Given the description of an element on the screen output the (x, y) to click on. 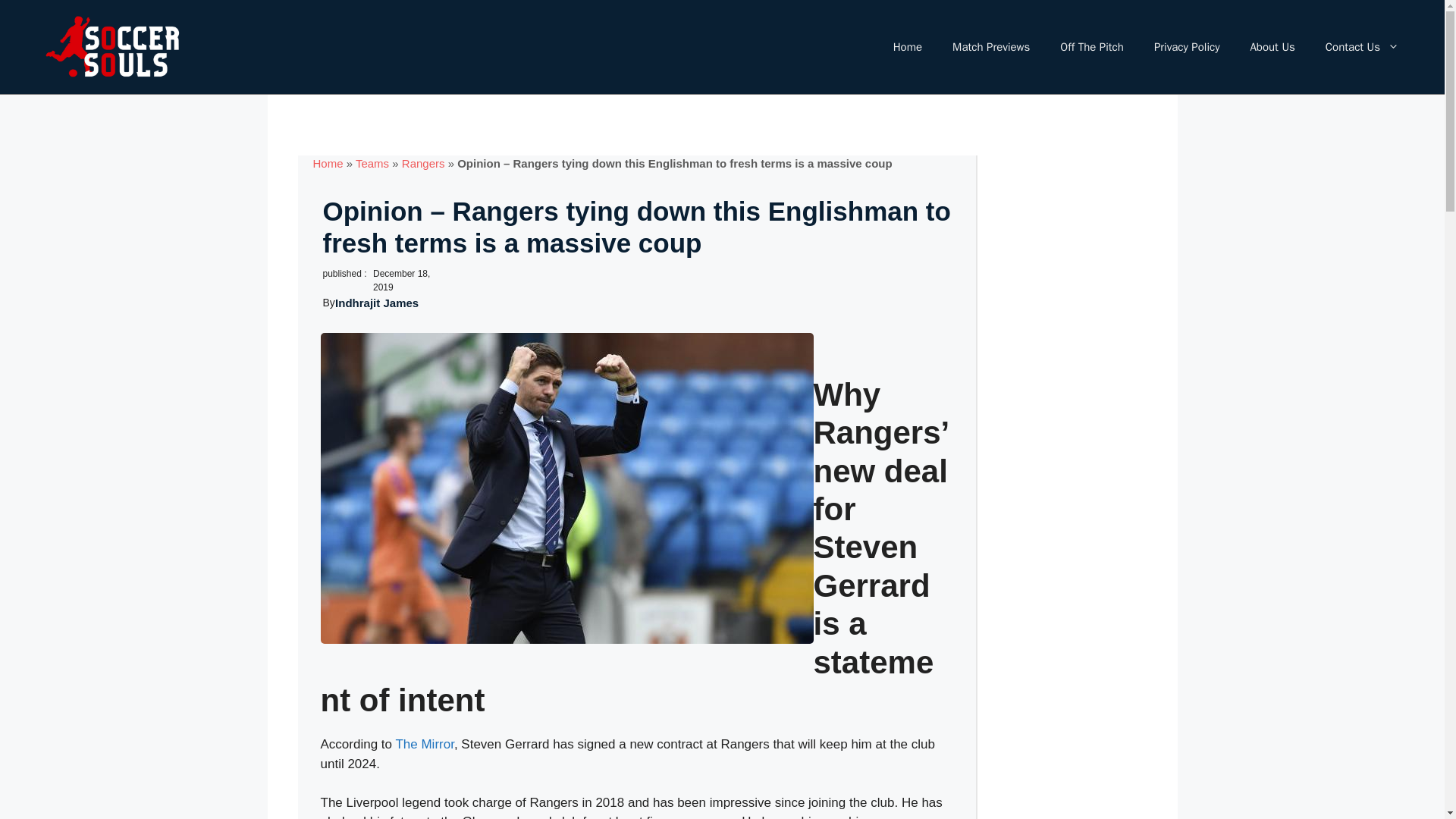
Match Previews (991, 46)
Contact Us (1361, 46)
Teams (371, 163)
About Us (1271, 46)
Home (327, 163)
Rangers (423, 163)
Home (907, 46)
Indhrajit James (376, 302)
The Mirror (423, 744)
Off The Pitch (1091, 46)
